Given the description of an element on the screen output the (x, y) to click on. 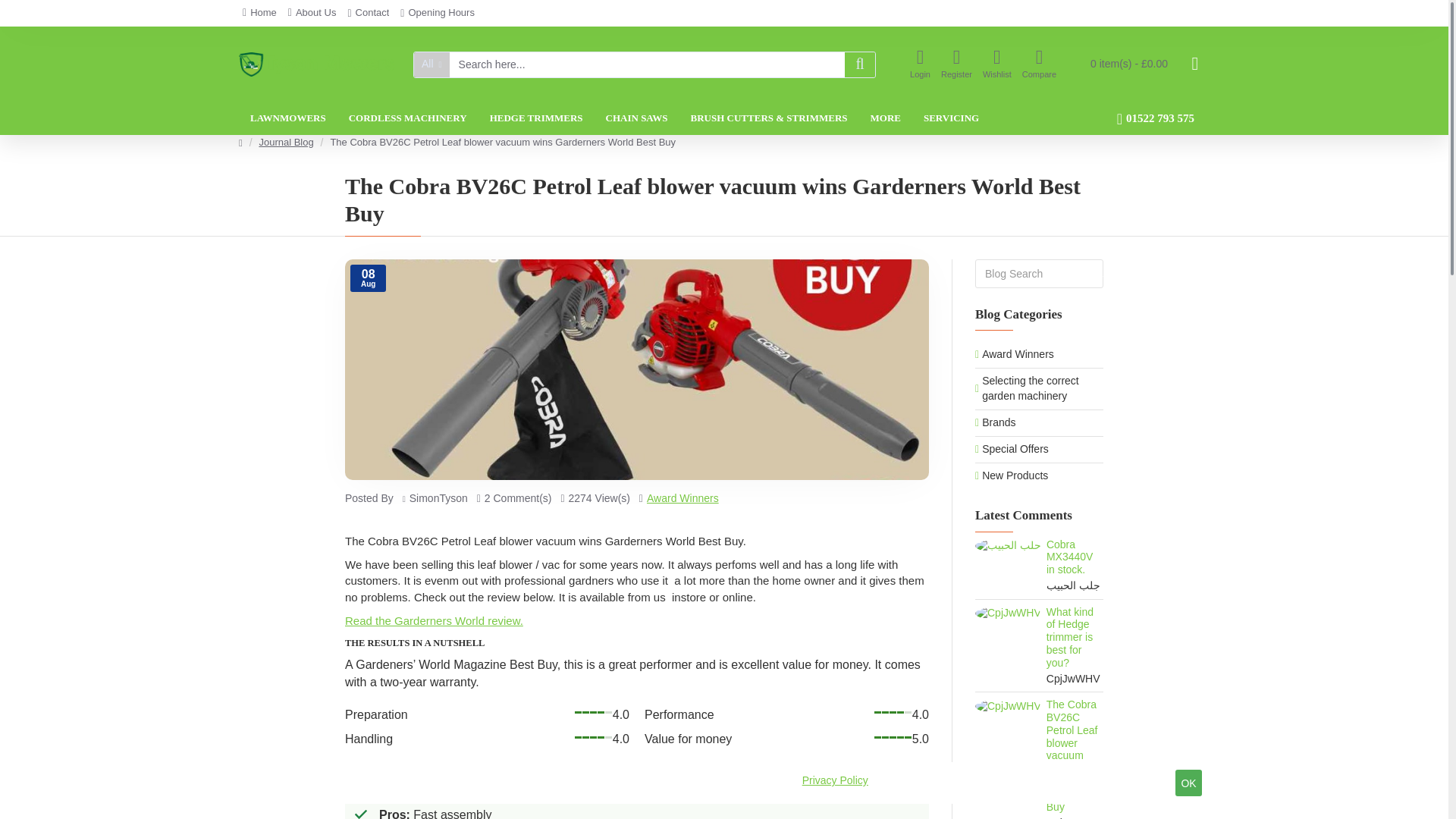
LAWNMOWERS (287, 118)
Wishlist (996, 64)
Register (956, 64)
Home (259, 13)
CORDLESS MACHINERY (408, 118)
Contact (368, 13)
Compare (1038, 64)
About Us (311, 13)
Opening Hours (437, 13)
Tyson Mowers (316, 64)
